Given the description of an element on the screen output the (x, y) to click on. 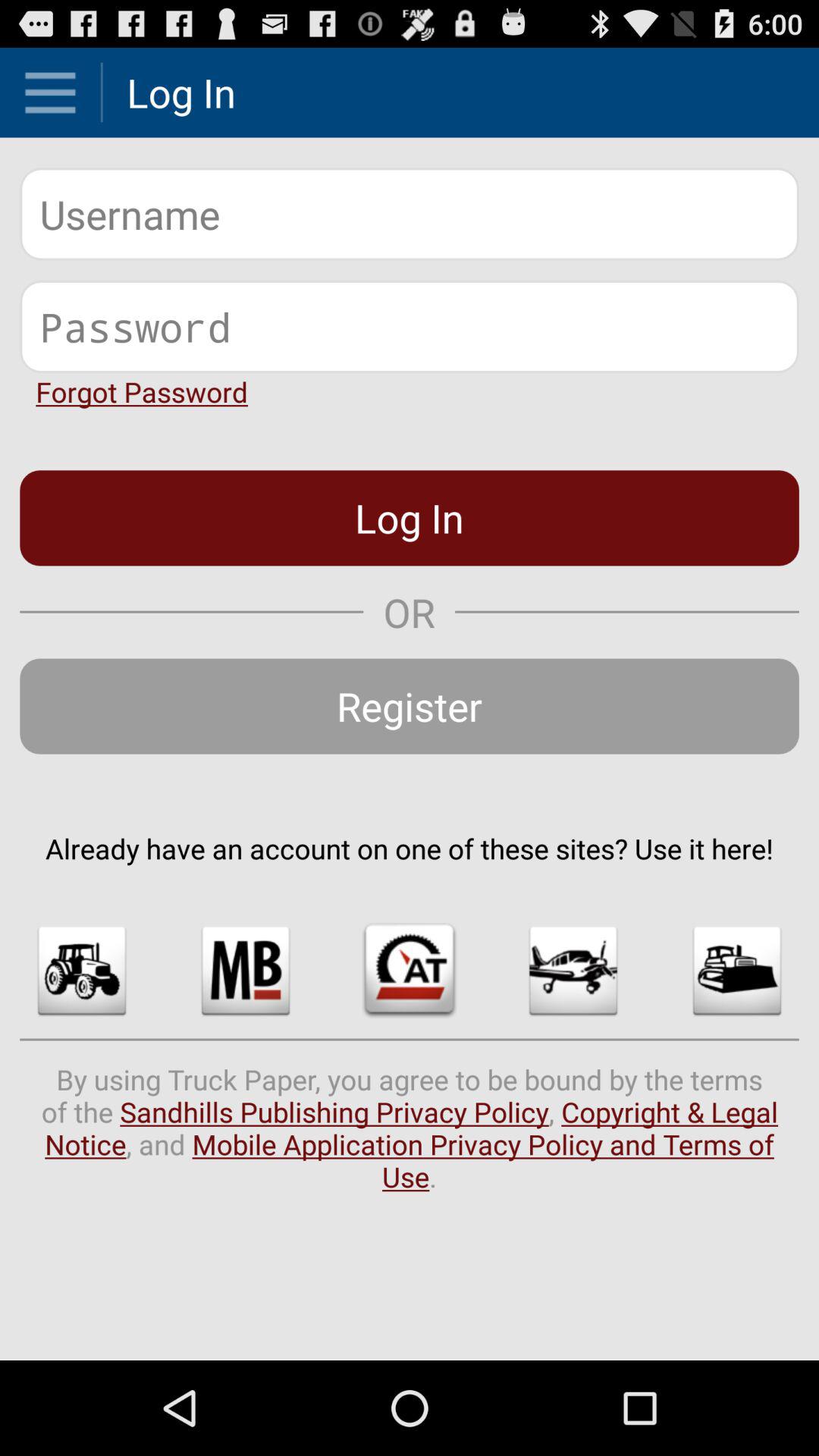
click the register item (409, 706)
